Given the description of an element on the screen output the (x, y) to click on. 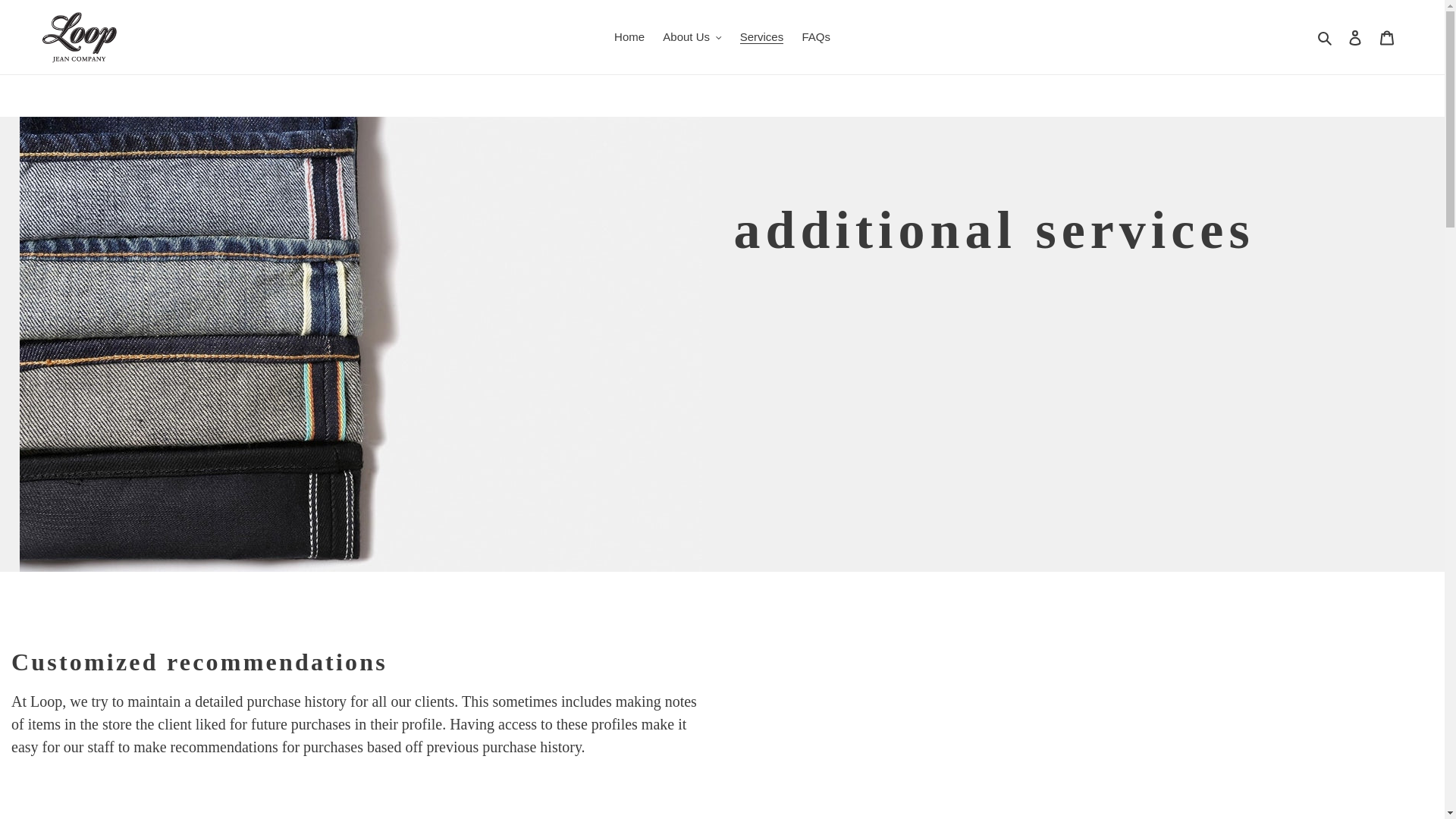
Log in (1355, 37)
Services (762, 37)
Cart (1387, 37)
FAQs (815, 37)
Home (629, 37)
Search (1326, 36)
About Us (692, 37)
